Given the description of an element on the screen output the (x, y) to click on. 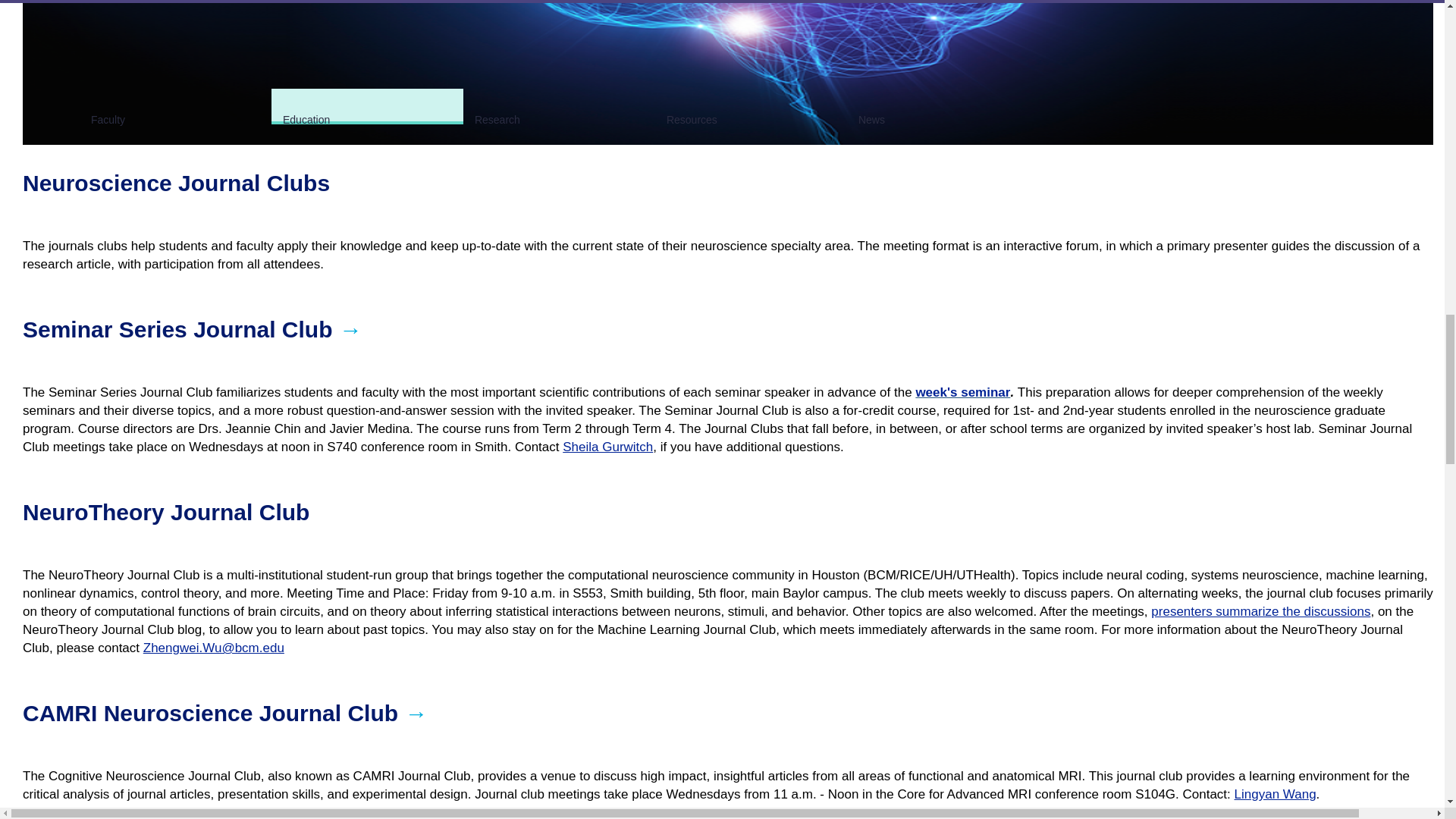
Seminar Series (962, 391)
